Given the description of an element on the screen output the (x, y) to click on. 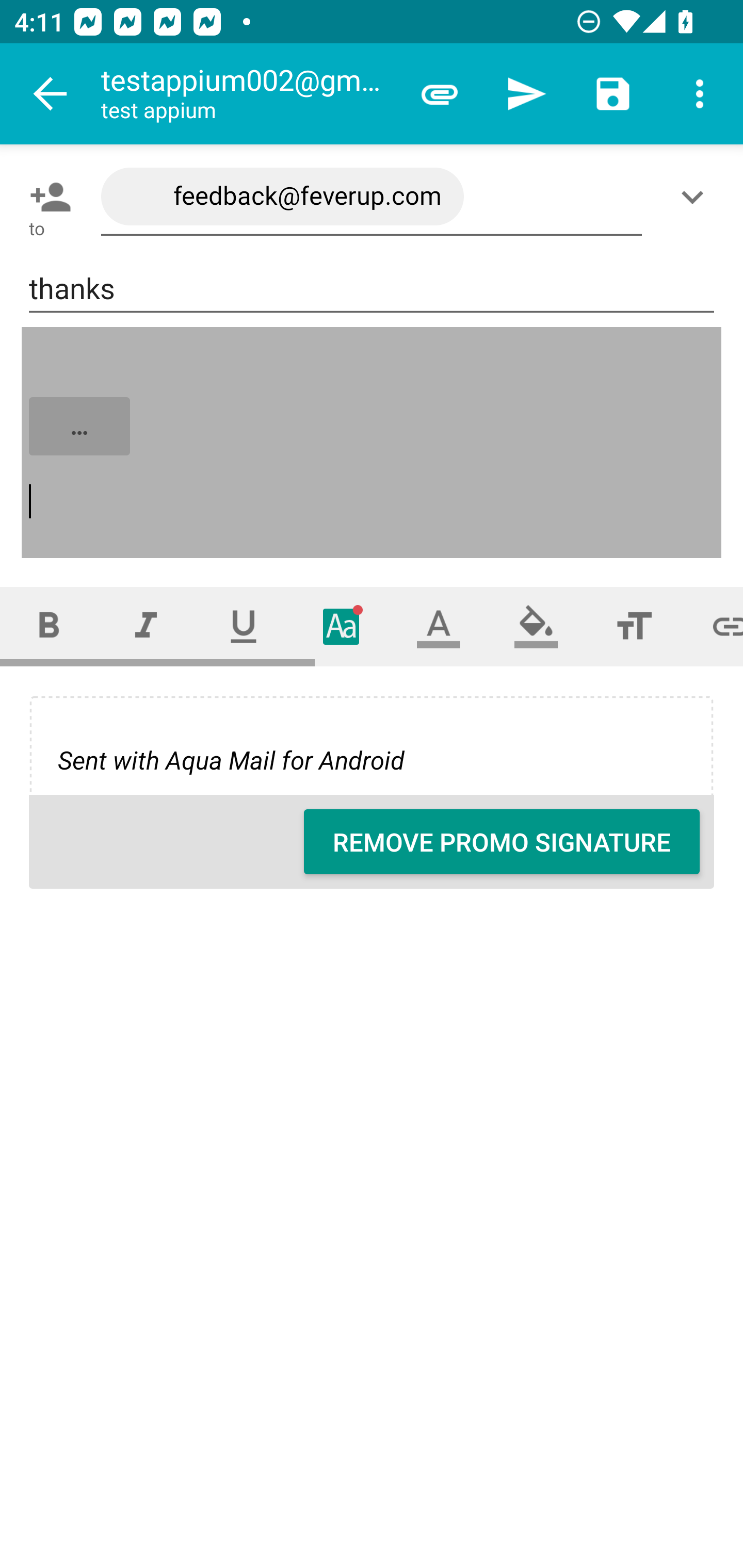
Navigate up (50, 93)
testappium002@gmail.com test appium (248, 93)
Attach (439, 93)
Send (525, 93)
Save (612, 93)
More options (699, 93)
feedback@feverup.com,  (371, 197)
Pick contact: To (46, 196)
Show/Add CC/BCC (696, 196)
thanks (371, 288)

…
 (372, 442)
Bold (48, 626)
Italic (145, 626)
Underline (243, 626)
Typeface (font) (341, 626)
Text color (438, 626)
Fill color (536, 626)
Font size (633, 626)
REMOVE PROMO SIGNATURE (501, 841)
